Given the description of an element on the screen output the (x, y) to click on. 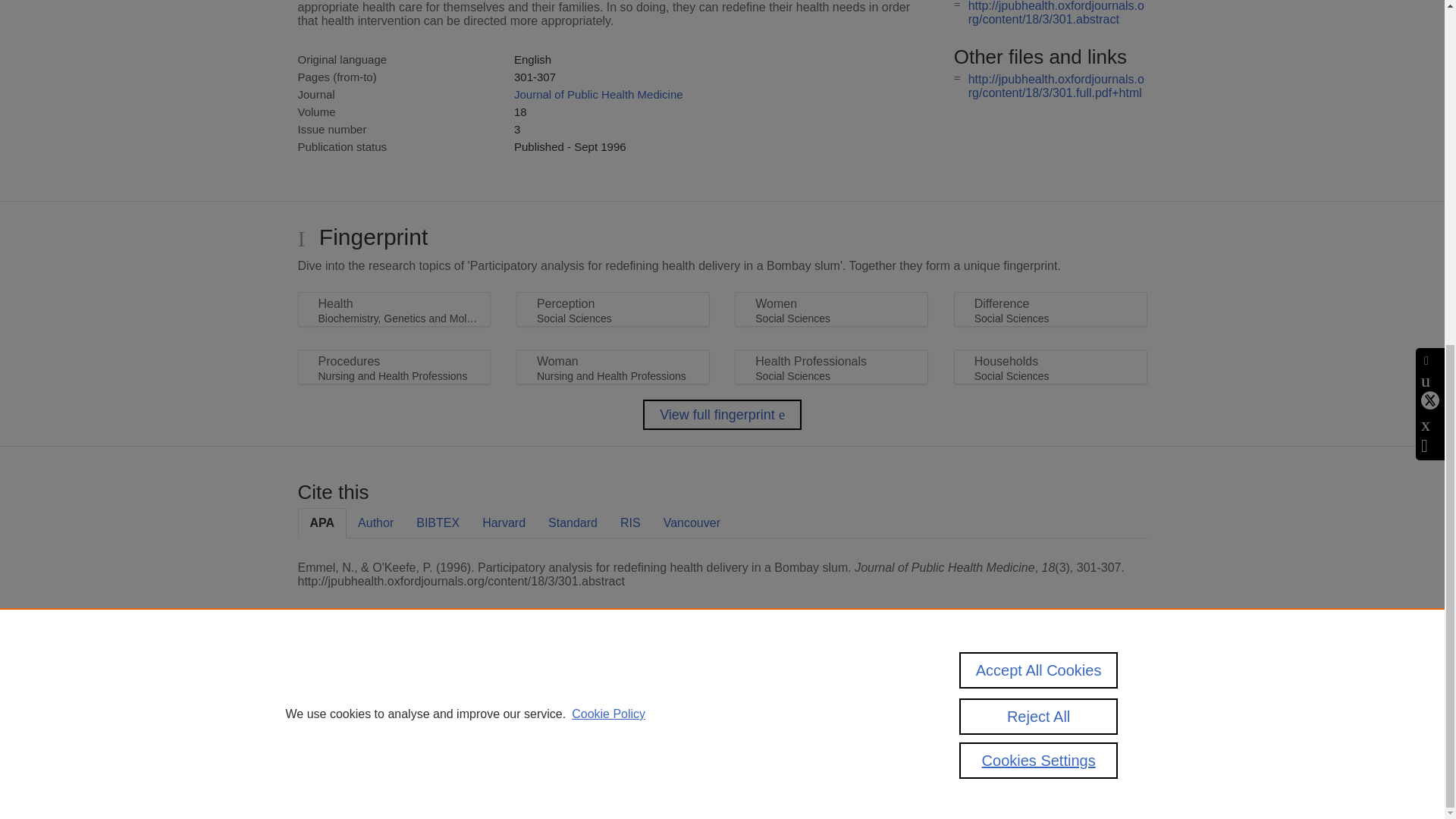
Cookies Settings (334, 760)
Elsevier B.V. (506, 707)
Scopus (394, 686)
use of cookies (796, 739)
Journal of Public Health Medicine (597, 93)
View full fingerprint (722, 414)
Pure (362, 686)
